Given the description of an element on the screen output the (x, y) to click on. 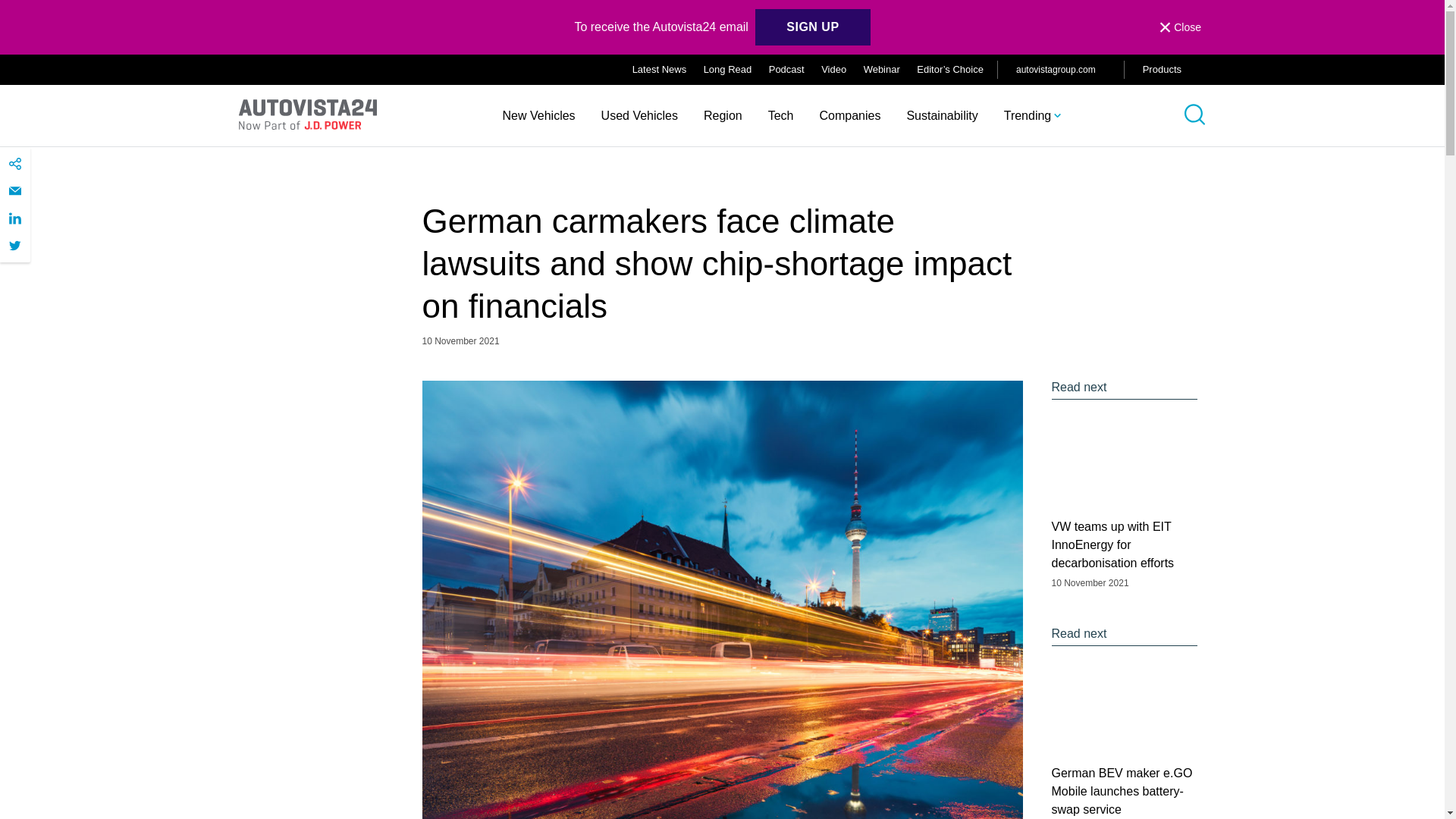
SIGN UP (812, 27)
Products (1173, 69)
Long Read (727, 69)
autovistagroup.com (1060, 69)
Webinar (881, 69)
Podcast (786, 69)
Latest News (659, 69)
Video (833, 69)
